Given the description of an element on the screen output the (x, y) to click on. 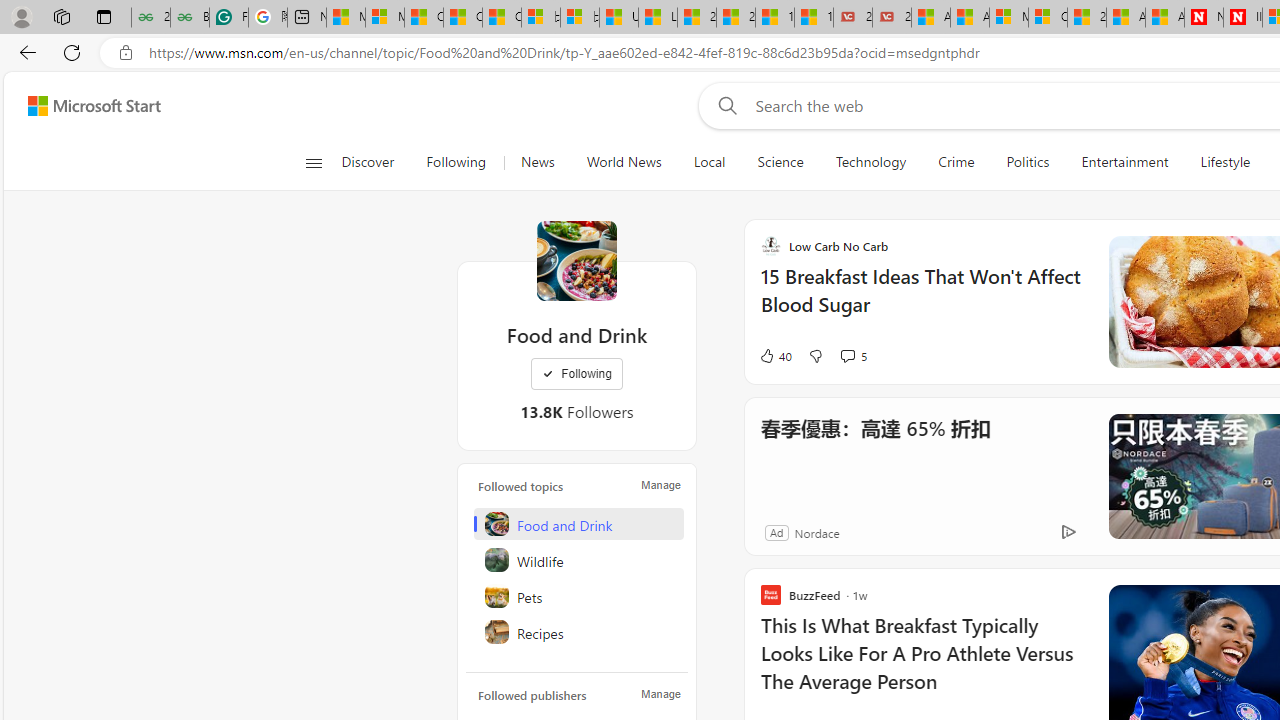
Cloud Computing Services | Microsoft Azure (1048, 17)
